Given the description of an element on the screen output the (x, y) to click on. 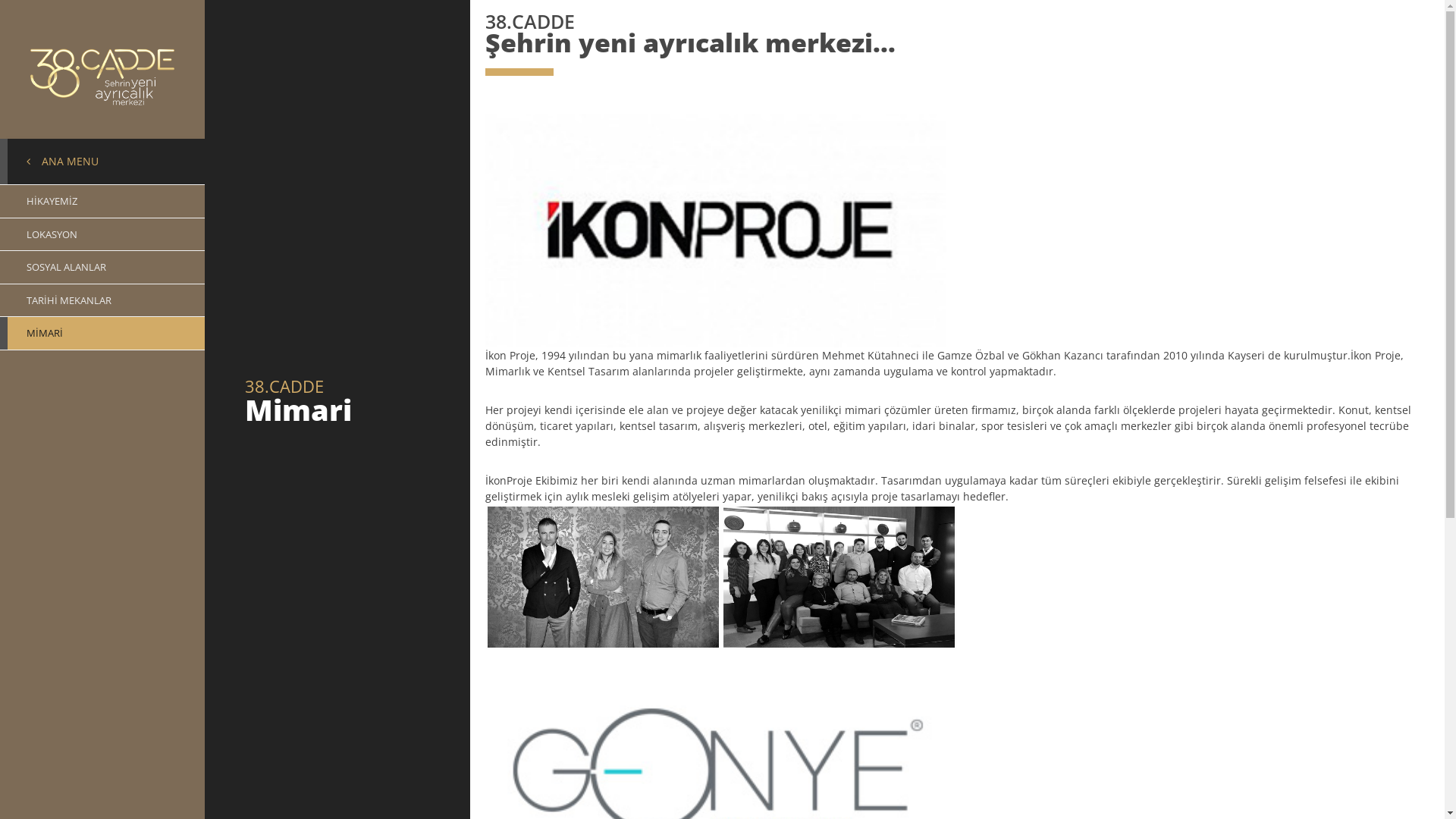
SOSYAL ALANLAR Element type: text (102, 267)
BASIN Element type: text (102, 268)
ANA MENU Element type: text (102, 161)
LOKASYON Element type: text (102, 234)
TALEP FORMU Element type: text (102, 325)
